Given the description of an element on the screen output the (x, y) to click on. 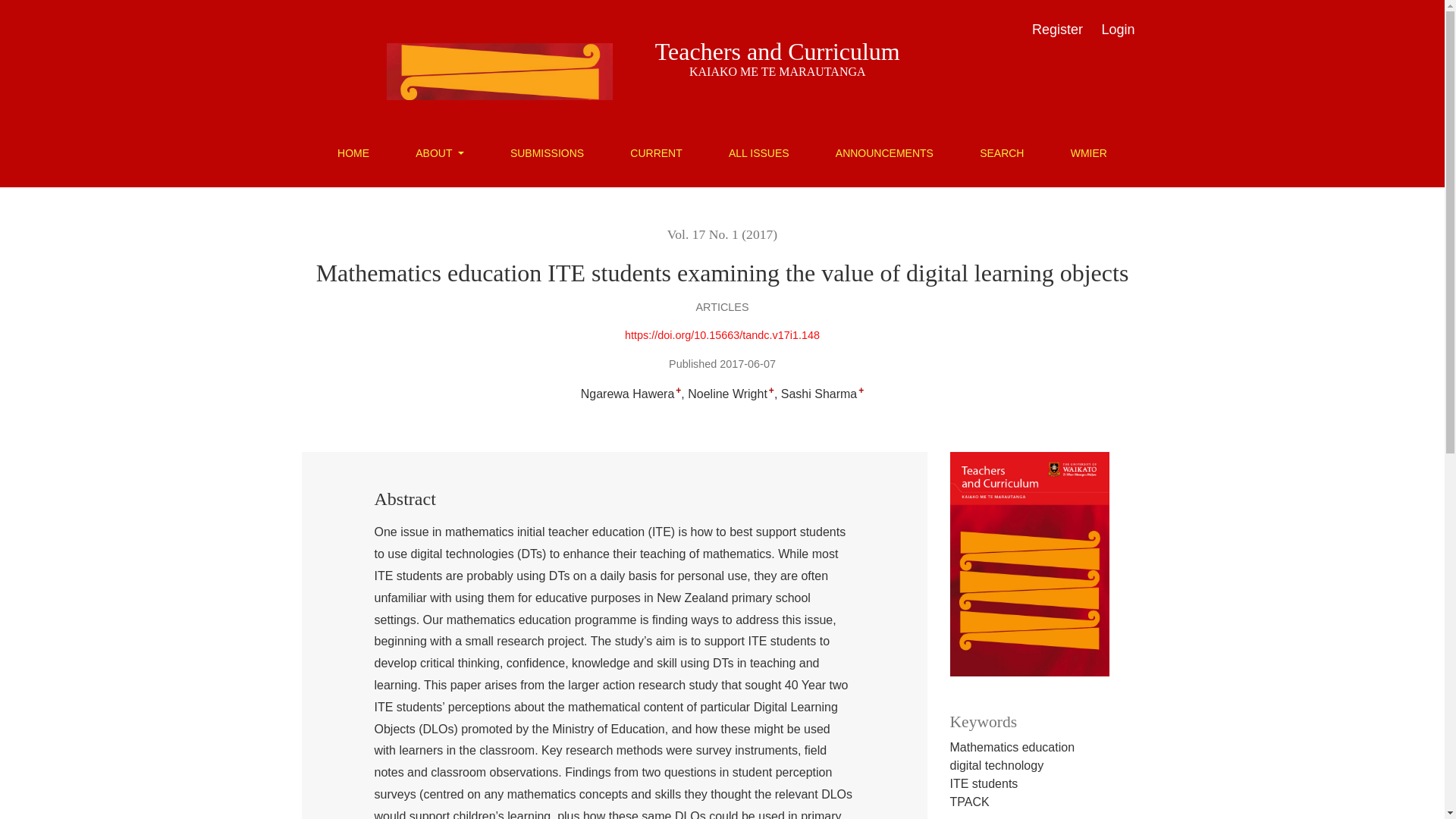
Login (1117, 29)
ALL ISSUES (759, 153)
Register (1057, 29)
SUBMISSIONS (546, 153)
CURRENT (655, 153)
ABOUT (439, 153)
ANNOUNCEMENTS (884, 153)
HOME (352, 153)
WMIER (1088, 153)
SEARCH (1001, 153)
